Given the description of an element on the screen output the (x, y) to click on. 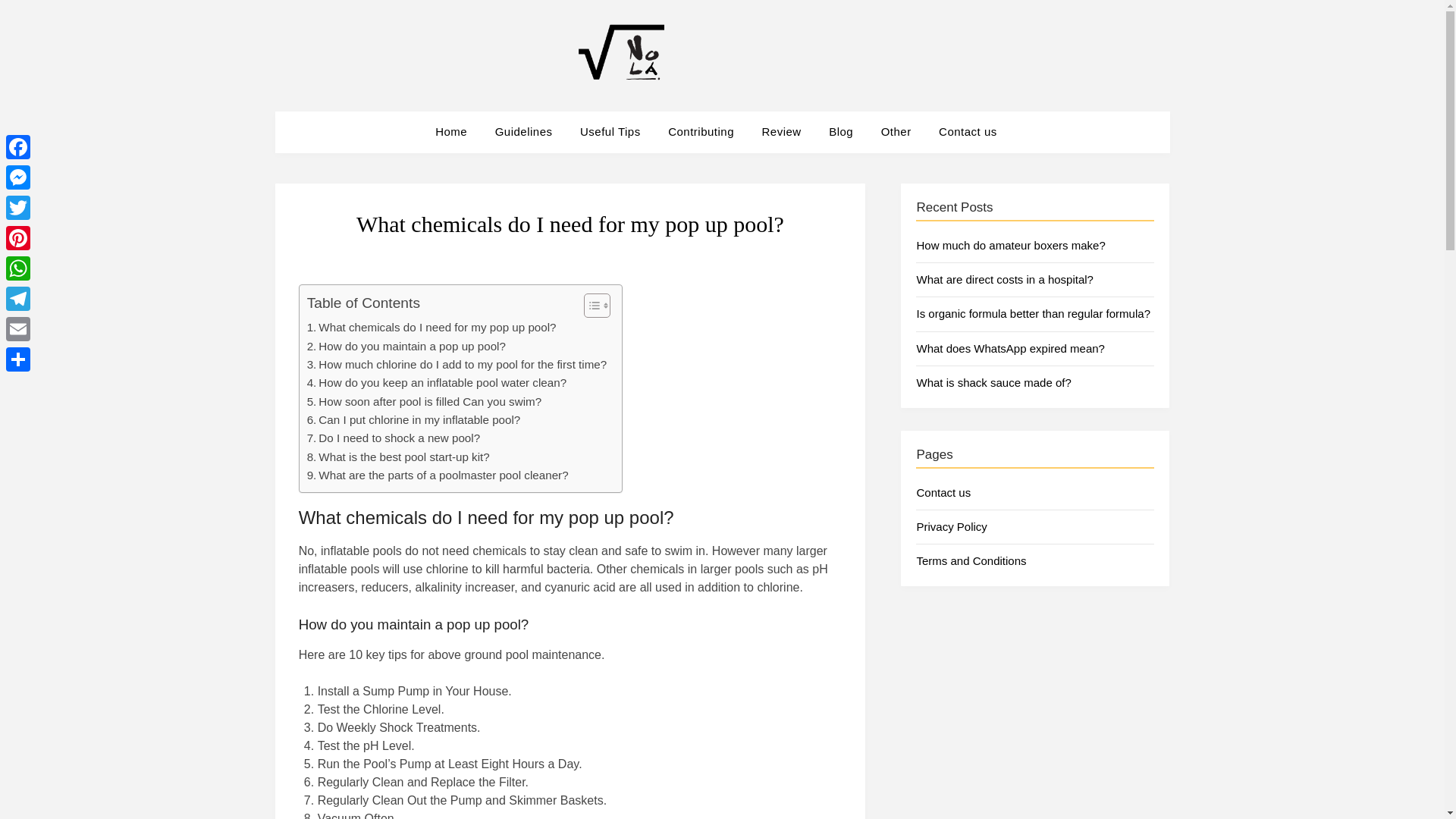
Other (896, 131)
What does WhatsApp expired mean? (1009, 348)
Useful Tips (609, 131)
What chemicals do I need for my pop up pool? (431, 327)
Do I need to shock a new pool? (393, 438)
How soon after pool is filled Can you swim? (424, 402)
Facebook (17, 146)
How do you maintain a pop up pool? (406, 346)
What is the best pool start-up kit? (398, 456)
Can I put chlorine in my inflatable pool? (414, 420)
What chemicals do I need for my pop up pool? (431, 327)
What are direct costs in a hospital? (1004, 278)
How do you maintain a pop up pool? (406, 346)
Contributing (700, 131)
How much chlorine do I add to my pool for the first time? (457, 364)
